Given the description of an element on the screen output the (x, y) to click on. 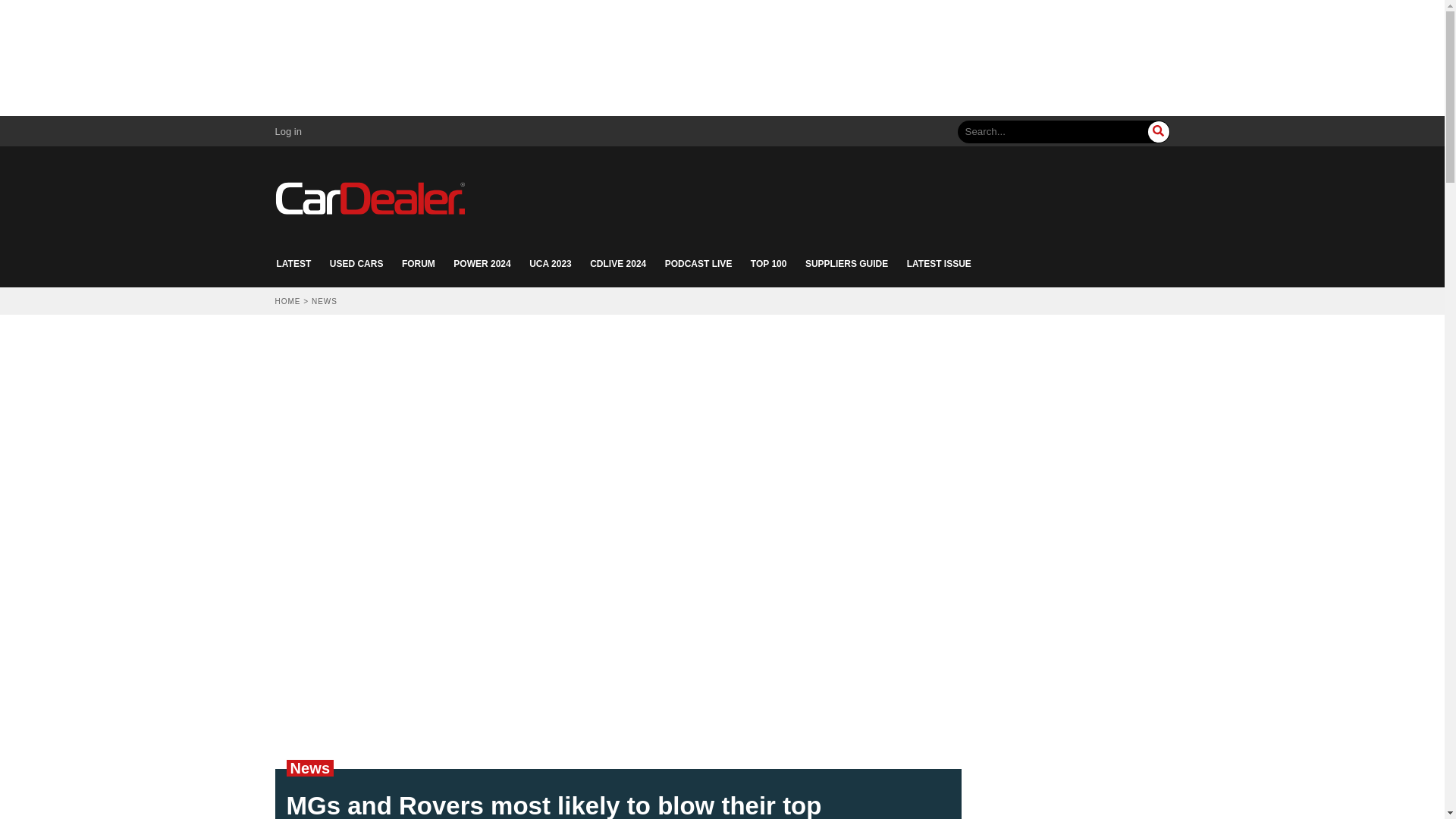
FORUM (418, 263)
LATEST ISSUE (939, 263)
POWER 2024 (481, 263)
LATEST (293, 263)
NEWS (324, 301)
News (309, 768)
SUPPLIERS GUIDE (846, 263)
PODCAST LIVE (698, 263)
HOME (287, 301)
UCA 2023 (550, 263)
